Given the description of an element on the screen output the (x, y) to click on. 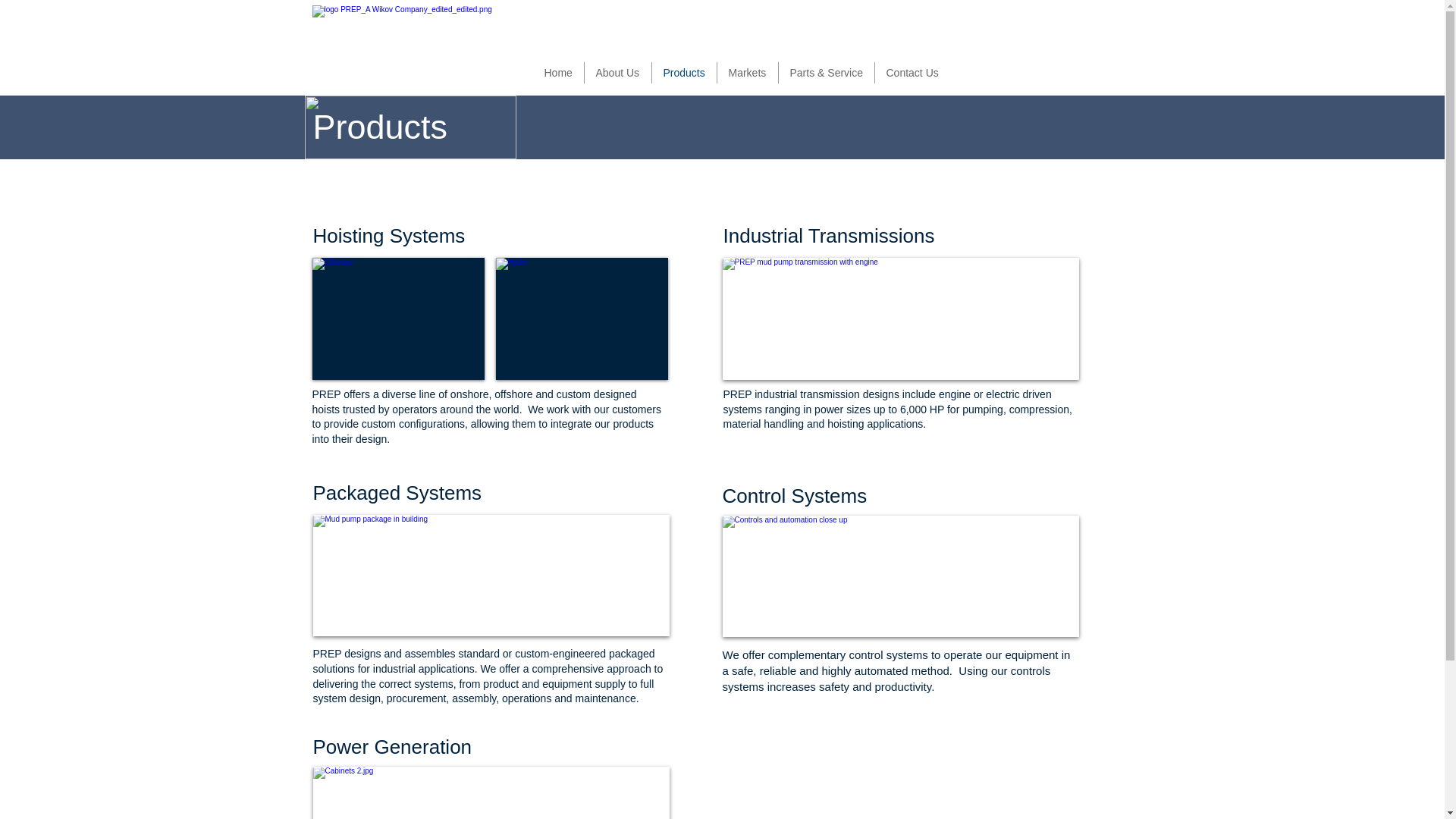
Markets (747, 72)
Contact Us (914, 72)
Home (557, 72)
Drilling Rig Controls  (900, 576)
Products (684, 72)
Drilling Rig Controls  (490, 792)
Mud pump transmission and engine (900, 318)
PREP - A Wikov Company (405, 47)
About Us (616, 72)
Mud pump package in building (490, 575)
